Given the description of an element on the screen output the (x, y) to click on. 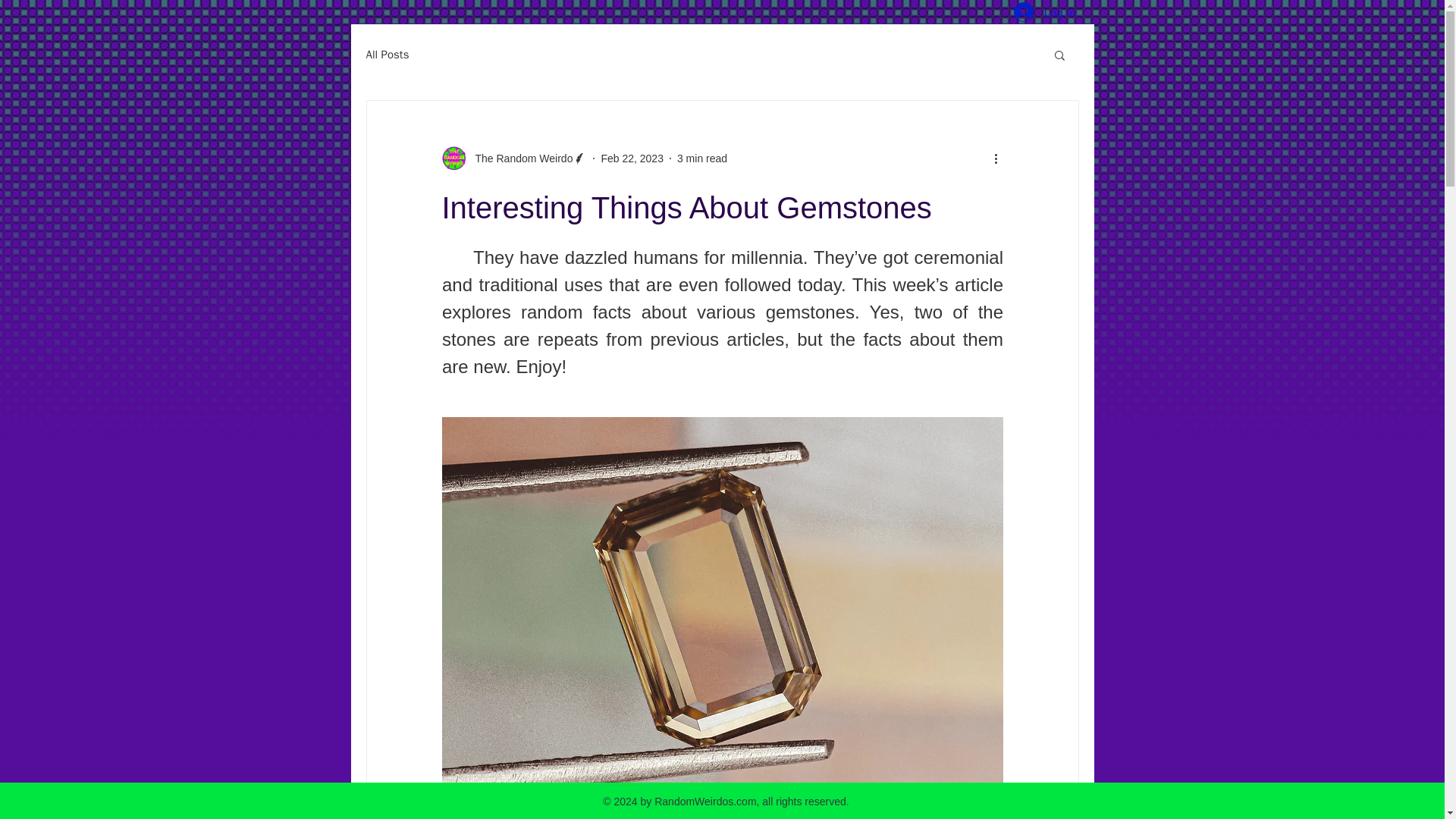
The Random Weirdo (513, 158)
All Posts (387, 53)
3 min read (701, 157)
Log In (1044, 13)
Feb 22, 2023 (631, 157)
The Random Weirdo (518, 157)
